Given the description of an element on the screen output the (x, y) to click on. 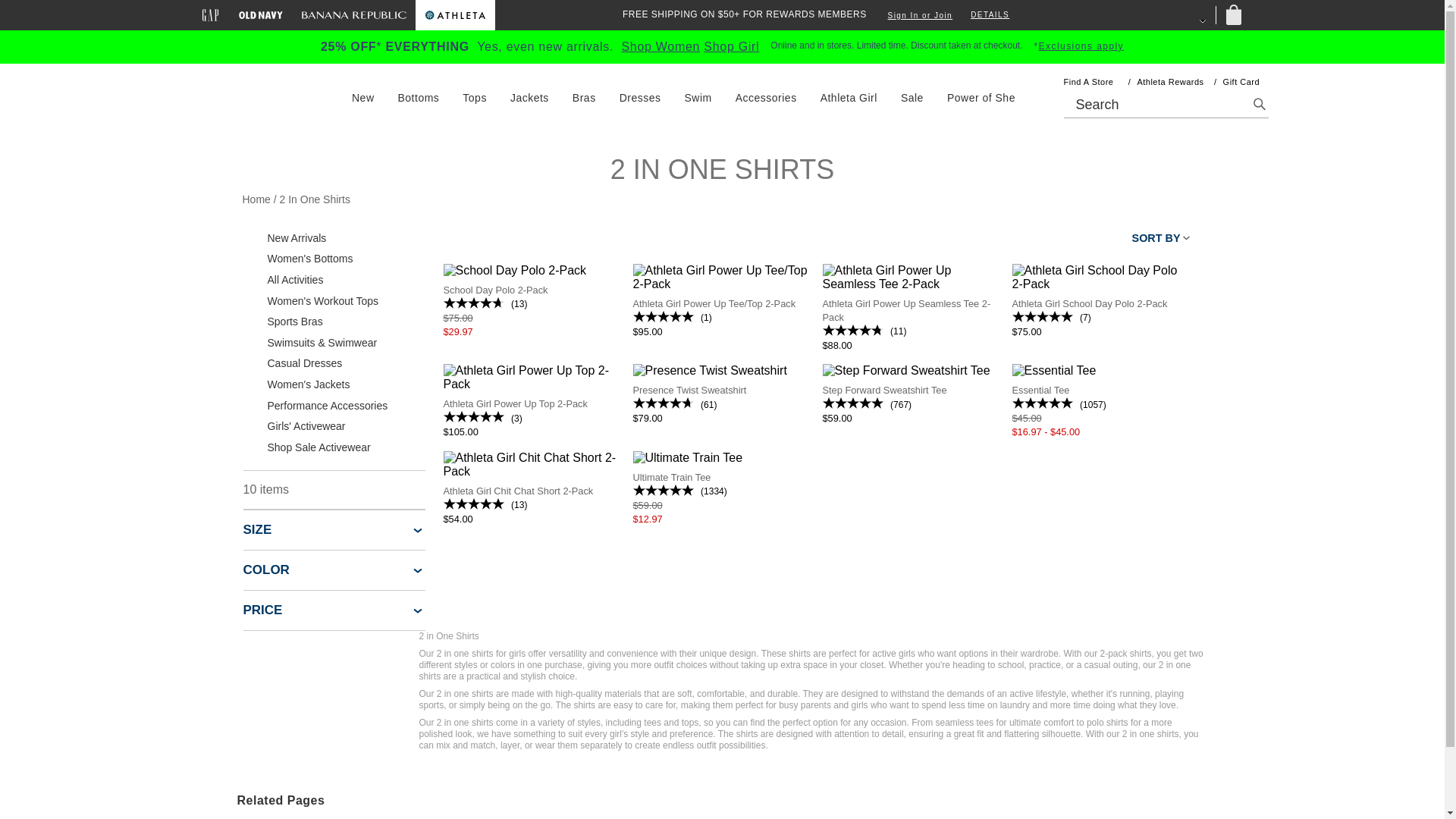
Shop Women (660, 46)
Bras (583, 97)
Number of Reviews (897, 330)
Sale (912, 97)
Athleta Girl (849, 97)
Tops (474, 97)
New (363, 97)
Accessories (765, 97)
